Given the description of an element on the screen output the (x, y) to click on. 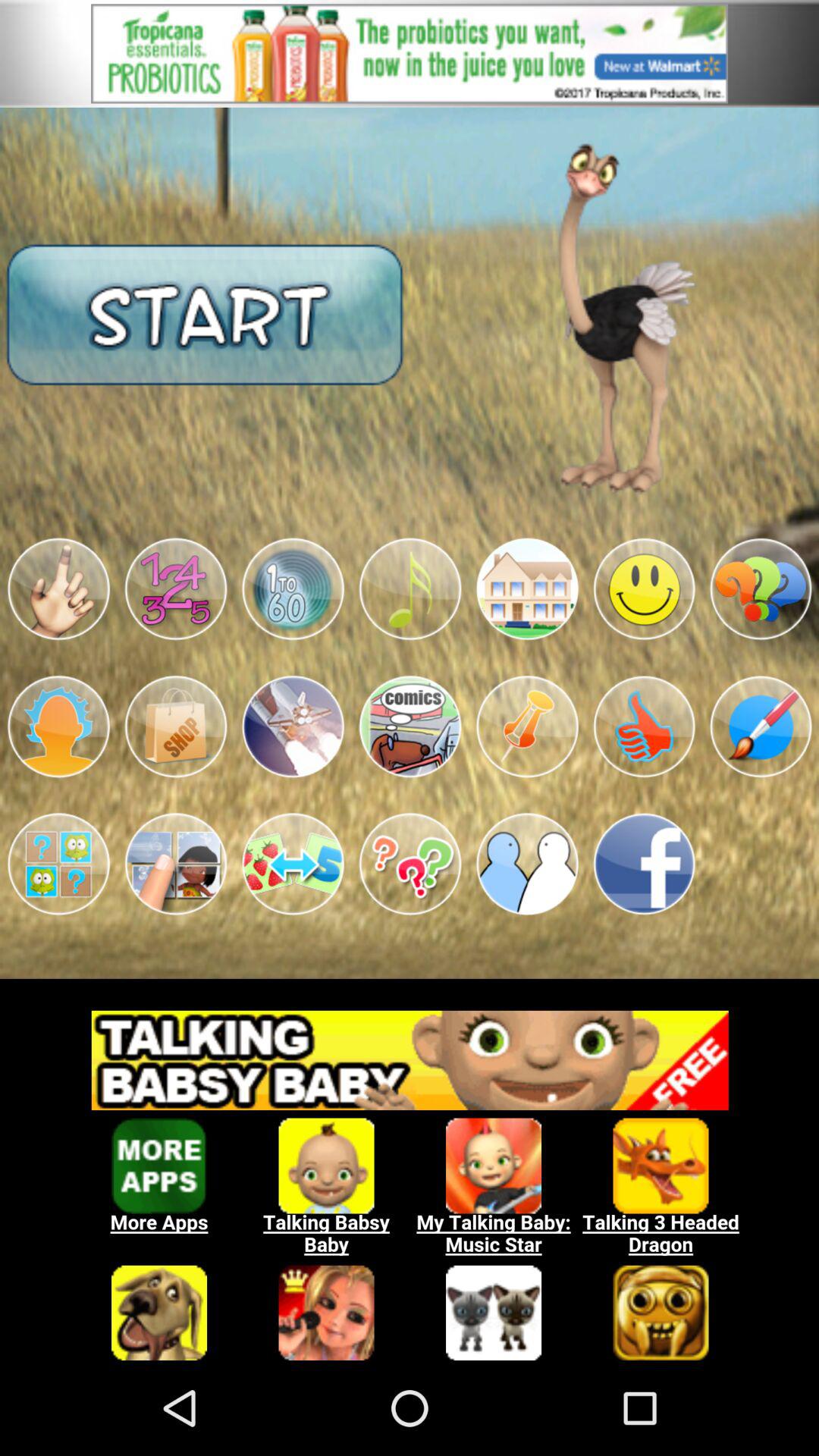
opens a advertisement (409, 53)
